Given the description of an element on the screen output the (x, y) to click on. 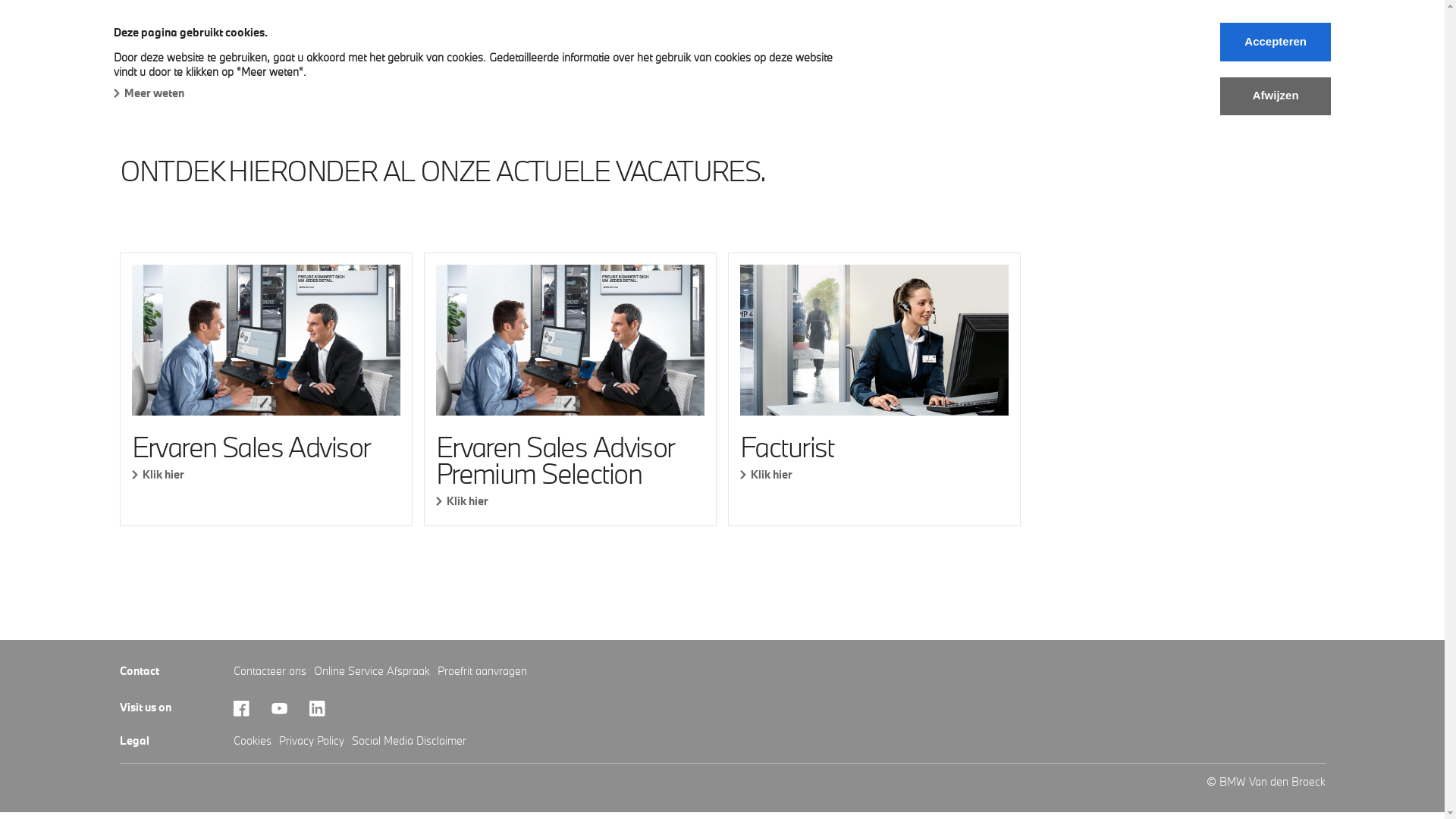
News Element type: text (659, 63)
BMW Financial Services Element type: text (548, 63)
Privacy Policy Element type: text (311, 740)
Skip to main content Element type: text (0, 0)
Jobs Element type: text (717, 64)
Cookies Element type: text (252, 740)
BMW Van den Broeck Element type: text (174, 31)
Klik hier Element type: text (874, 473)
Klik hier Element type: text (265, 473)
FR/NL Element type: text (850, 63)
Klik hier Element type: text (570, 500)
Accepteren Element type: text (1275, 41)
Naverkoop Element type: text (424, 63)
Snel leverbare wagens Element type: text (301, 63)
Online Service Afspraak Element type: text (371, 670)
Contacteer ons Element type: text (269, 670)
Contact Element type: text (780, 63)
Meer weten Element type: text (148, 92)
Nieuwe wagens Element type: text (163, 63)
Social Media Disclaimer Element type: text (408, 740)
Afwijzen Element type: text (1275, 95)
Proefrit aanvragen Element type: text (481, 670)
